Given the description of an element on the screen output the (x, y) to click on. 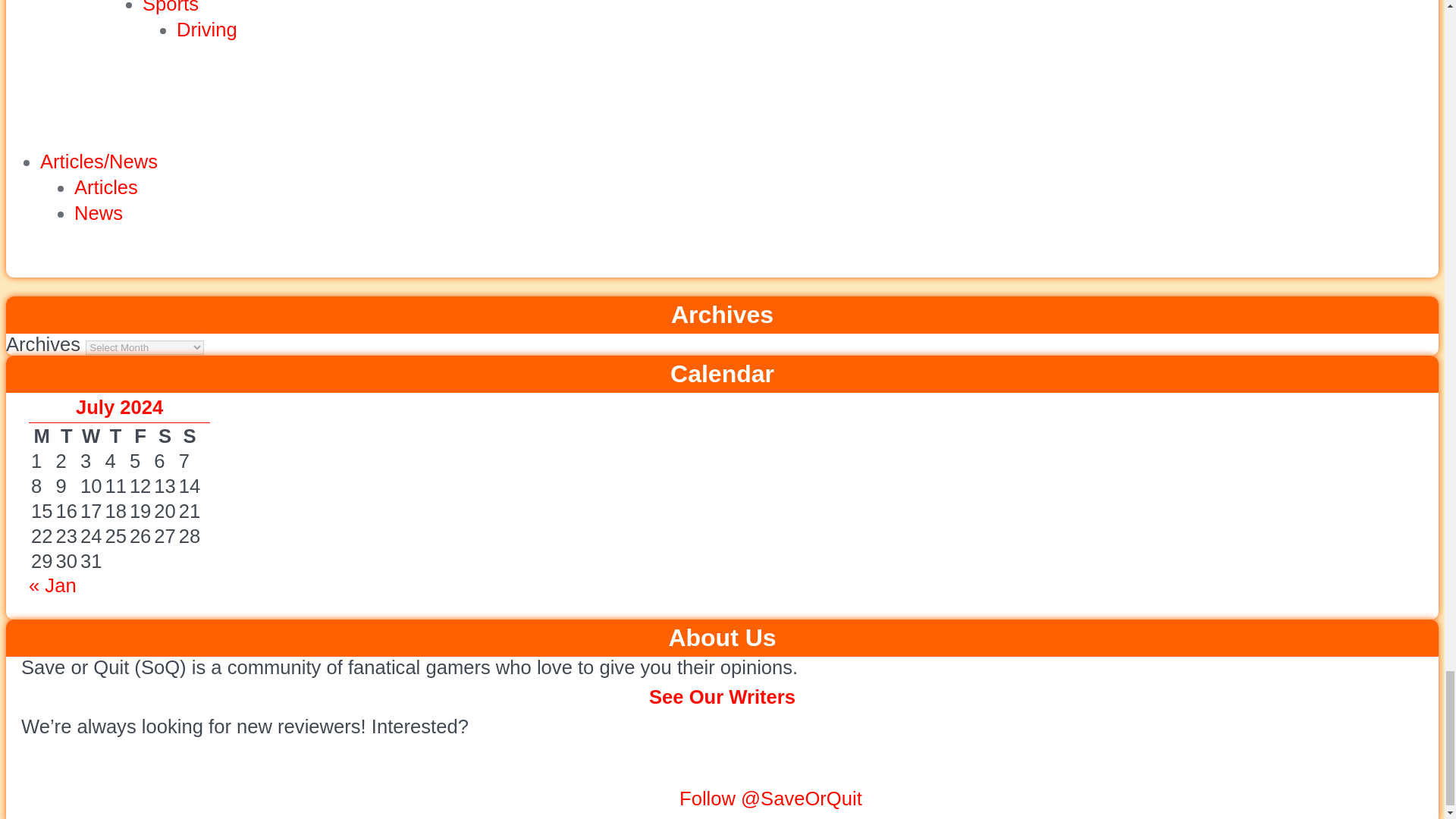
Tuesday (66, 436)
Join SoQ Steam Group (591, 798)
Wednesday (90, 436)
Thursday (114, 436)
Saturday (164, 436)
Sunday (188, 436)
Friday (140, 436)
Monday (41, 436)
Join SoQ Discord (641, 798)
